Given the description of an element on the screen output the (x, y) to click on. 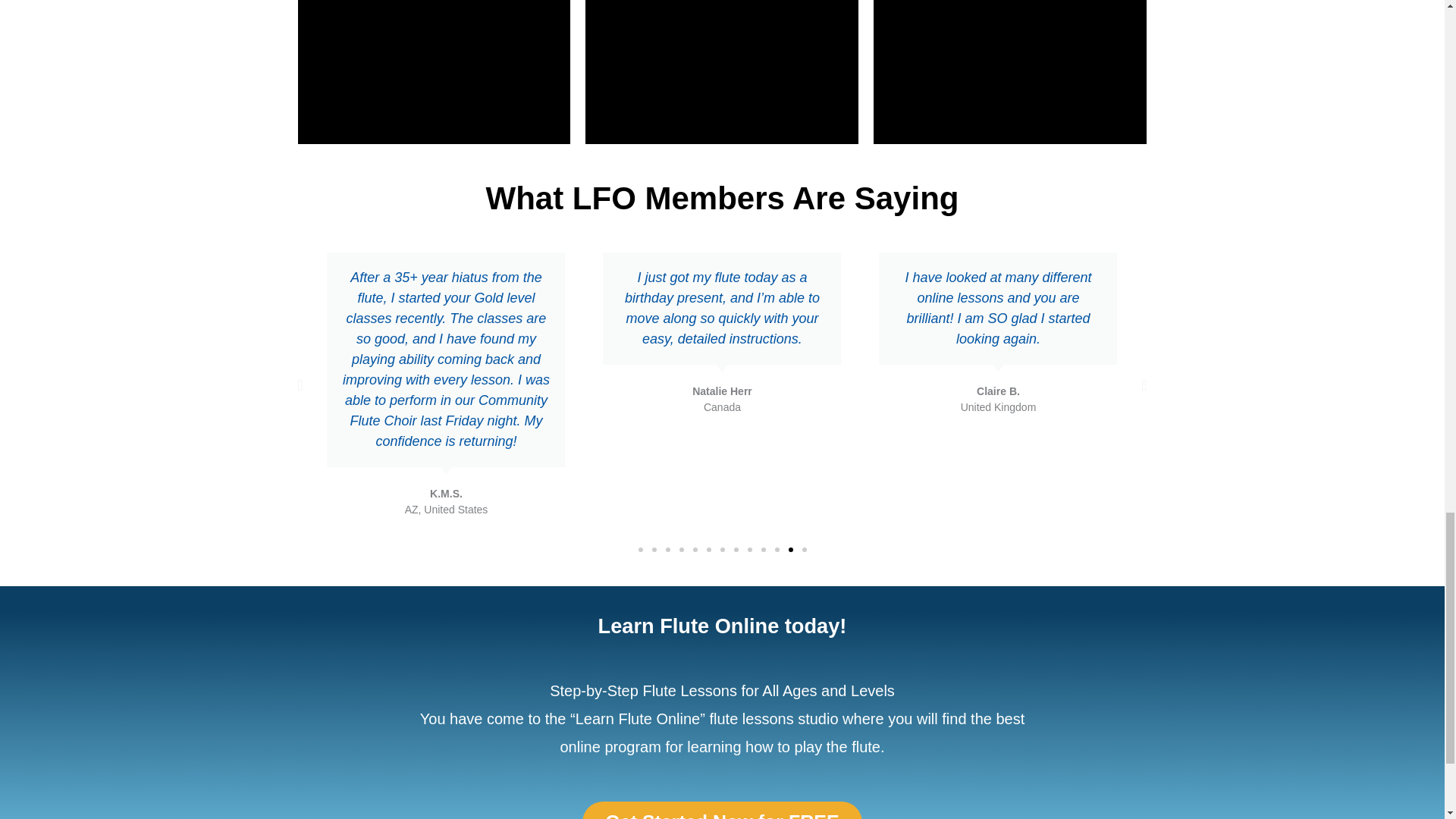
vimeo Video Player (1010, 71)
Get Started Now for FREE (721, 810)
vimeo Video Player (722, 71)
vimeo Video Player (433, 71)
